Given the description of an element on the screen output the (x, y) to click on. 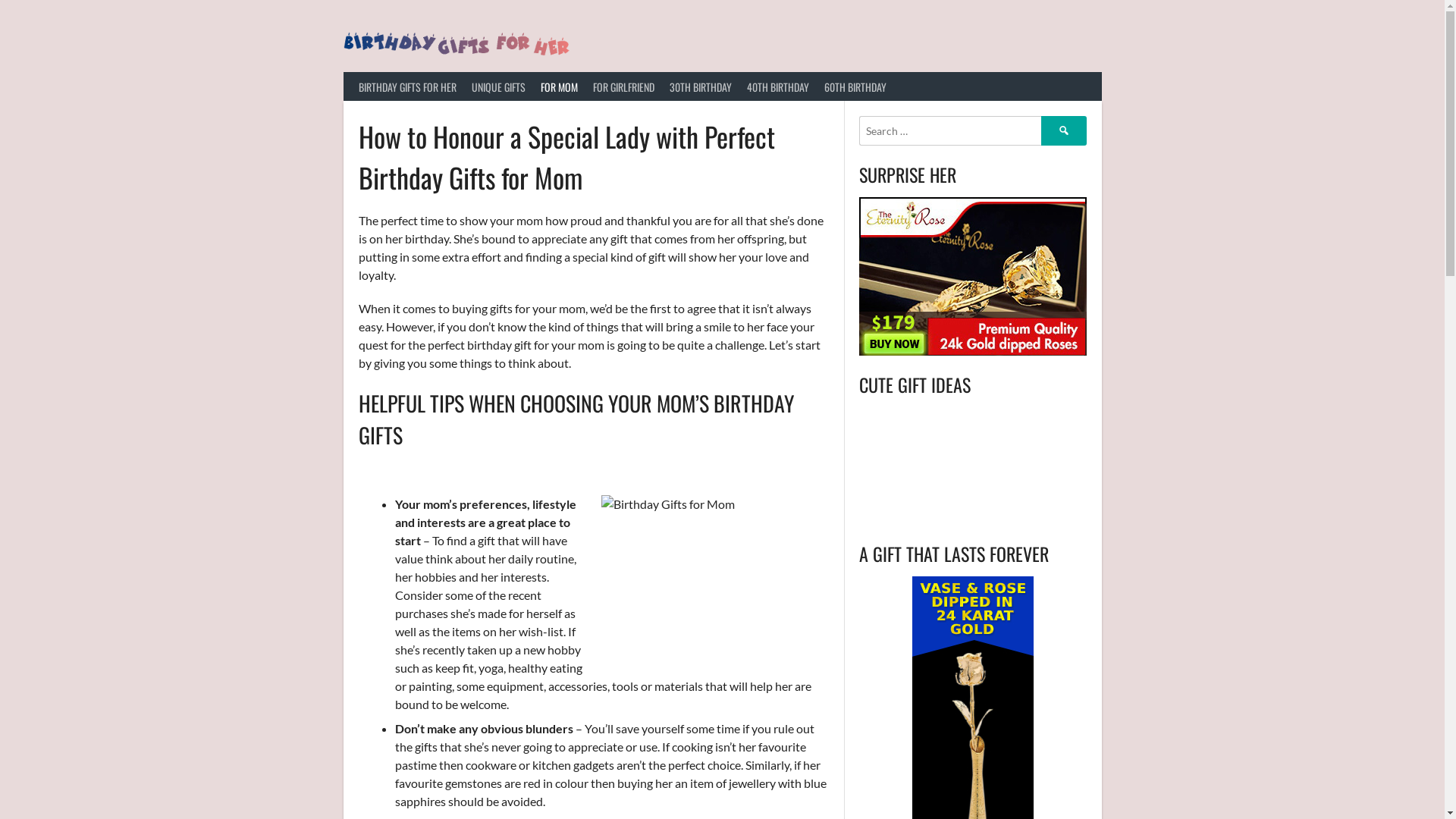
Search Element type: hover (1062, 130)
60TH BIRTHDAY Element type: text (854, 86)
BIRTHDAY GIFTS FOR HER Element type: text (406, 86)
30TH BIRTHDAY Element type: text (699, 86)
FOR MOM Element type: text (558, 86)
Skip to content Element type: text (0, 0)
UNIQUE GIFTS Element type: text (498, 86)
40TH BIRTHDAY Element type: text (776, 86)
FOR GIRLFRIEND Element type: text (623, 86)
